Given the description of an element on the screen output the (x, y) to click on. 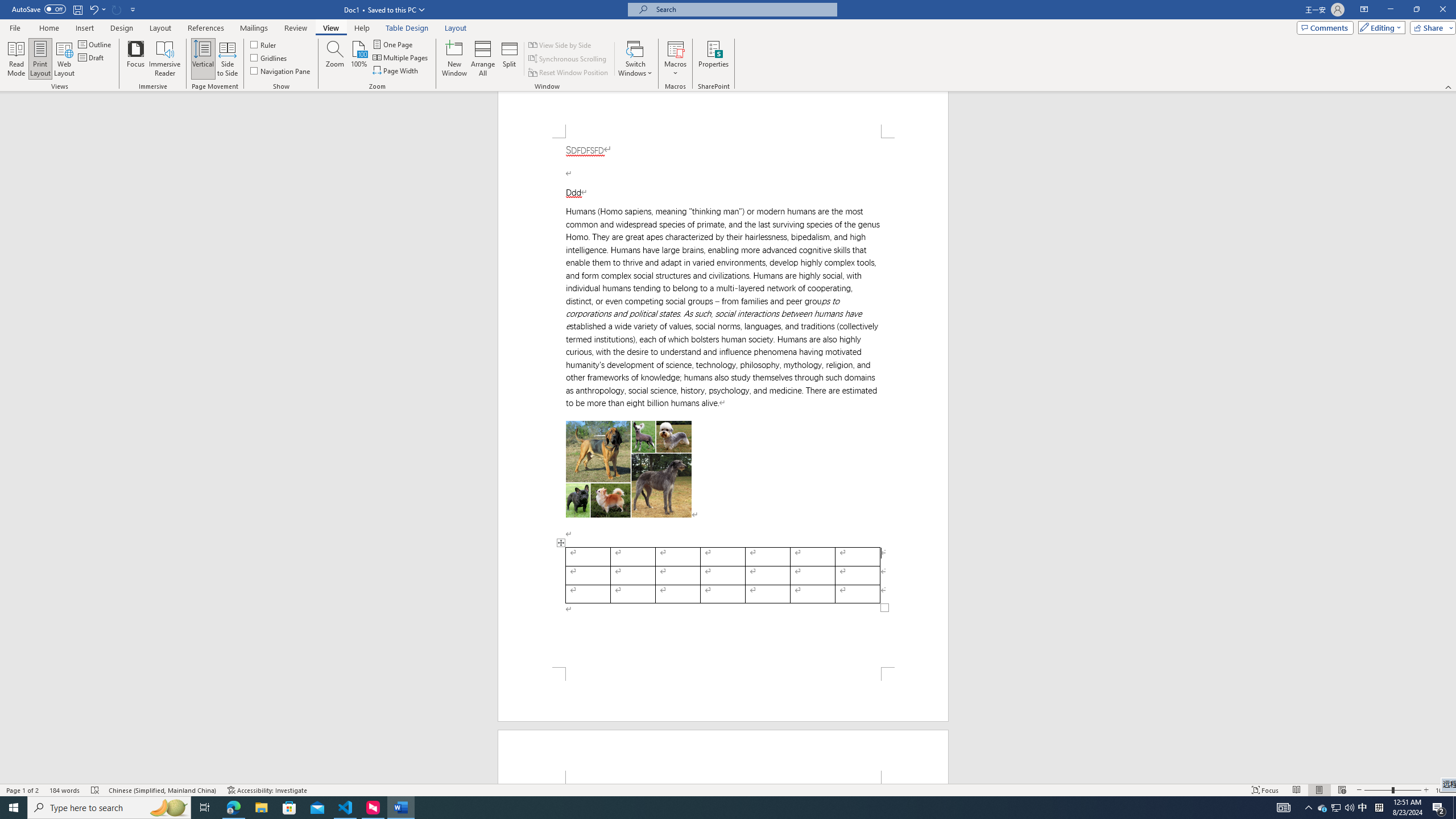
Immersive Reader (165, 58)
View Side by Side (561, 44)
Draft (91, 56)
Macros (675, 58)
New Window (454, 58)
Can't Repeat (117, 9)
Outline (95, 44)
Page Width (396, 69)
